Given the description of an element on the screen output the (x, y) to click on. 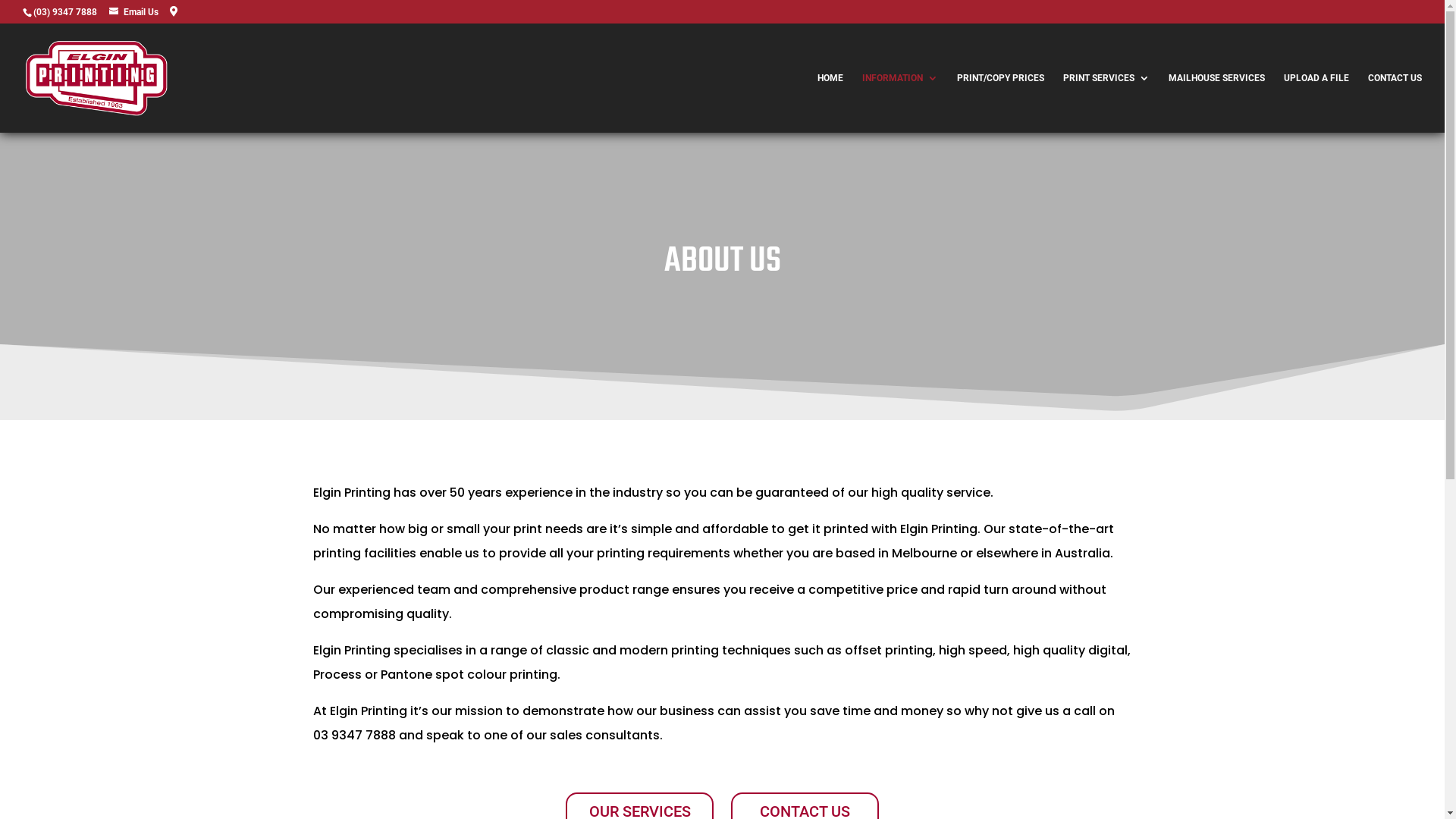
CONTACT US Element type: text (1394, 102)
PRINT/COPY PRICES Element type: text (1000, 102)
Email Us Element type: text (133, 11)
HOME Element type: text (830, 102)
INFORMATION Element type: text (900, 102)
UPLOAD A FILE Element type: text (1316, 102)
MAILHOUSE SERVICES Element type: text (1216, 102)
PRINT SERVICES Element type: text (1106, 102)
